Given the description of an element on the screen output the (x, y) to click on. 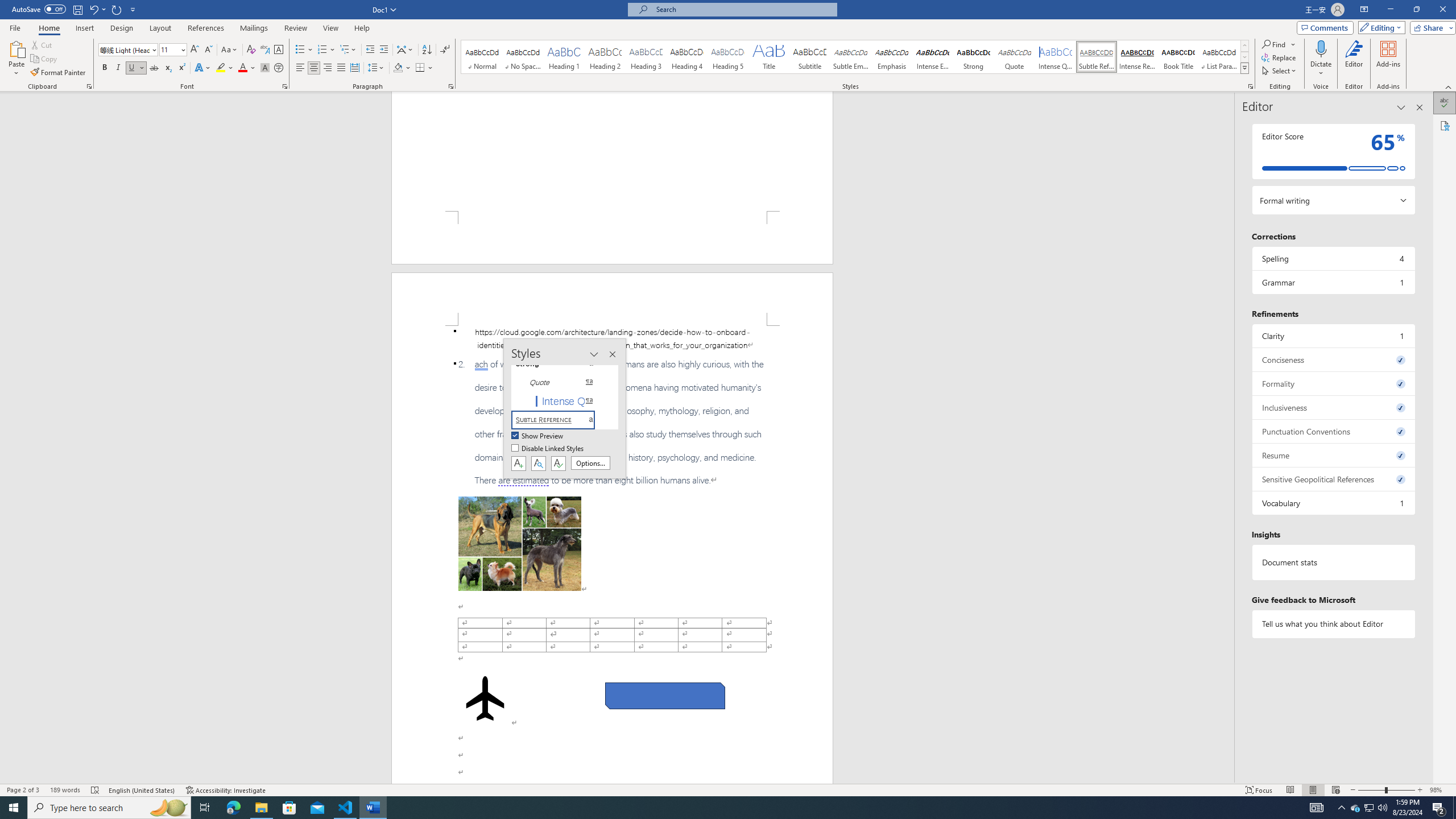
Collapse the Ribbon (1448, 86)
Clarity, 1 issue. Press space or enter to review items. (1333, 335)
Font... (285, 85)
Resume, 0 issues. Press space or enter to review items. (1333, 454)
Close pane (1419, 107)
Zoom Out (1371, 790)
Heading 1 (564, 56)
Enclose Characters... (278, 67)
Header -Section 1- (611, 298)
Shading (402, 67)
Morphological variation in six dogs (519, 543)
Mailings (253, 28)
Repeat Paragraph Alignment (117, 9)
